Given the description of an element on the screen output the (x, y) to click on. 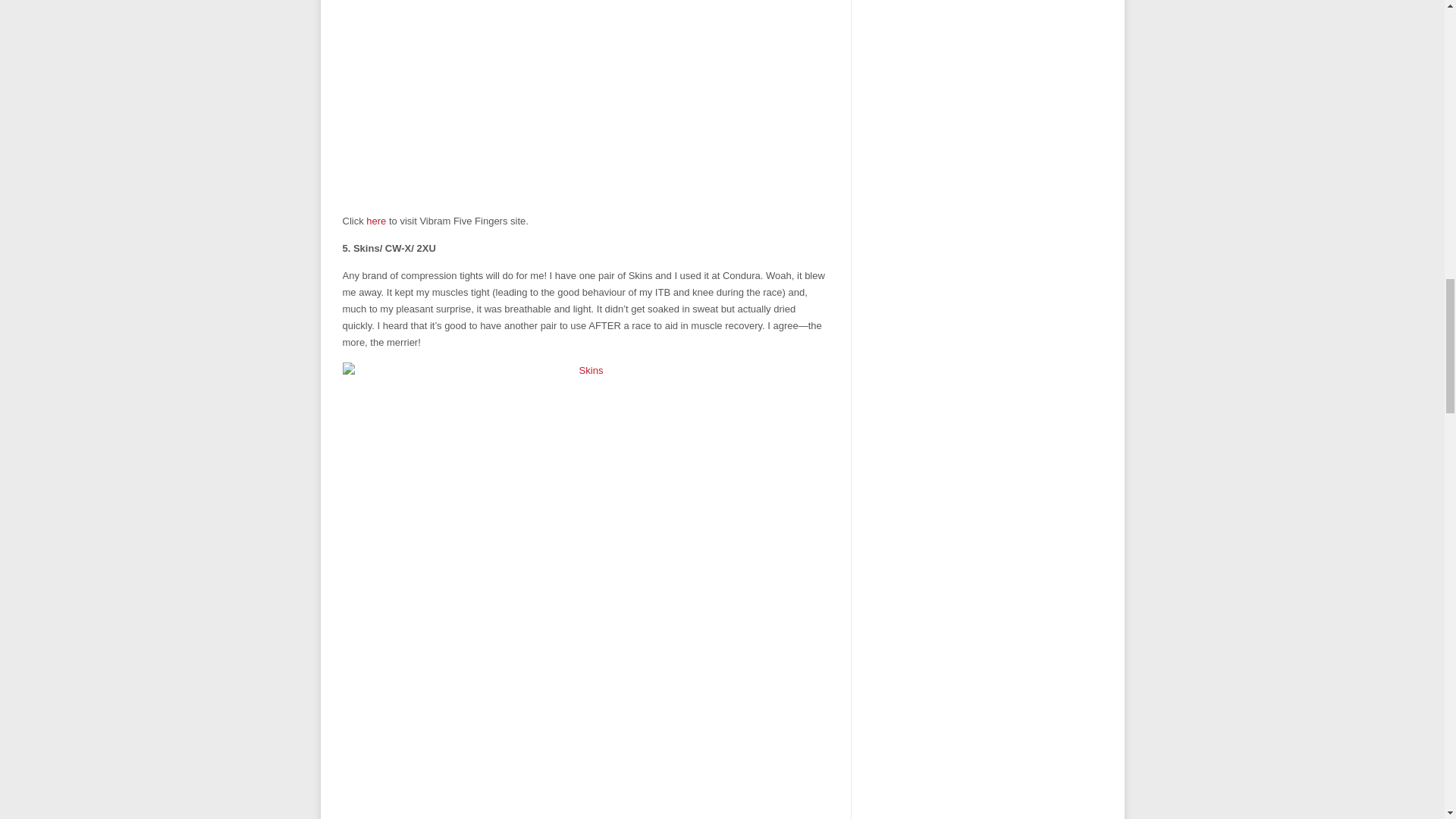
Vibram (375, 220)
Vibram by JPizarro2008, on Flickr (585, 101)
here (375, 220)
